Given the description of an element on the screen output the (x, y) to click on. 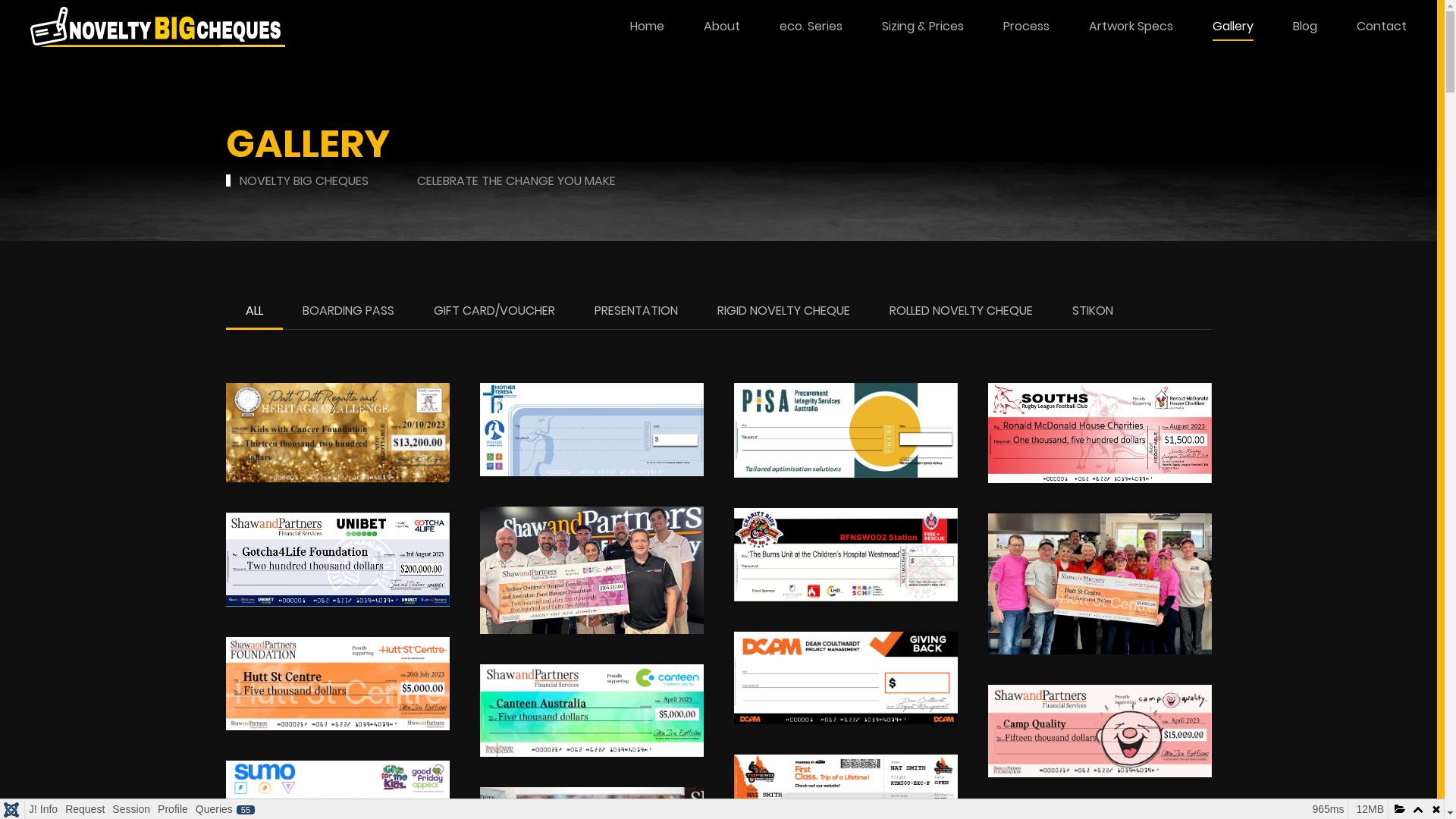
BOARDING PASS Element type: text (347, 311)
STIKON Element type: text (1092, 311)
Gallery Element type: text (1232, 26)
eco. Series Element type: text (810, 26)
Contact Element type: text (1381, 26)
RIGID NOVELTY CHEQUE Element type: text (783, 311)
ROLLED NOVELTY CHEQUE Element type: text (960, 311)
PRESENTATION Element type: text (635, 311)
About Element type: text (721, 26)
Home Element type: text (647, 26)
Sizing & Prices Element type: text (922, 26)
Artwork Specs Element type: text (1130, 26)
ALL Element type: text (253, 311)
Blog Element type: text (1304, 26)
Process Element type: text (1026, 26)
GIFT CARD/VOUCHER Element type: text (494, 311)
